Given the description of an element on the screen output the (x, y) to click on. 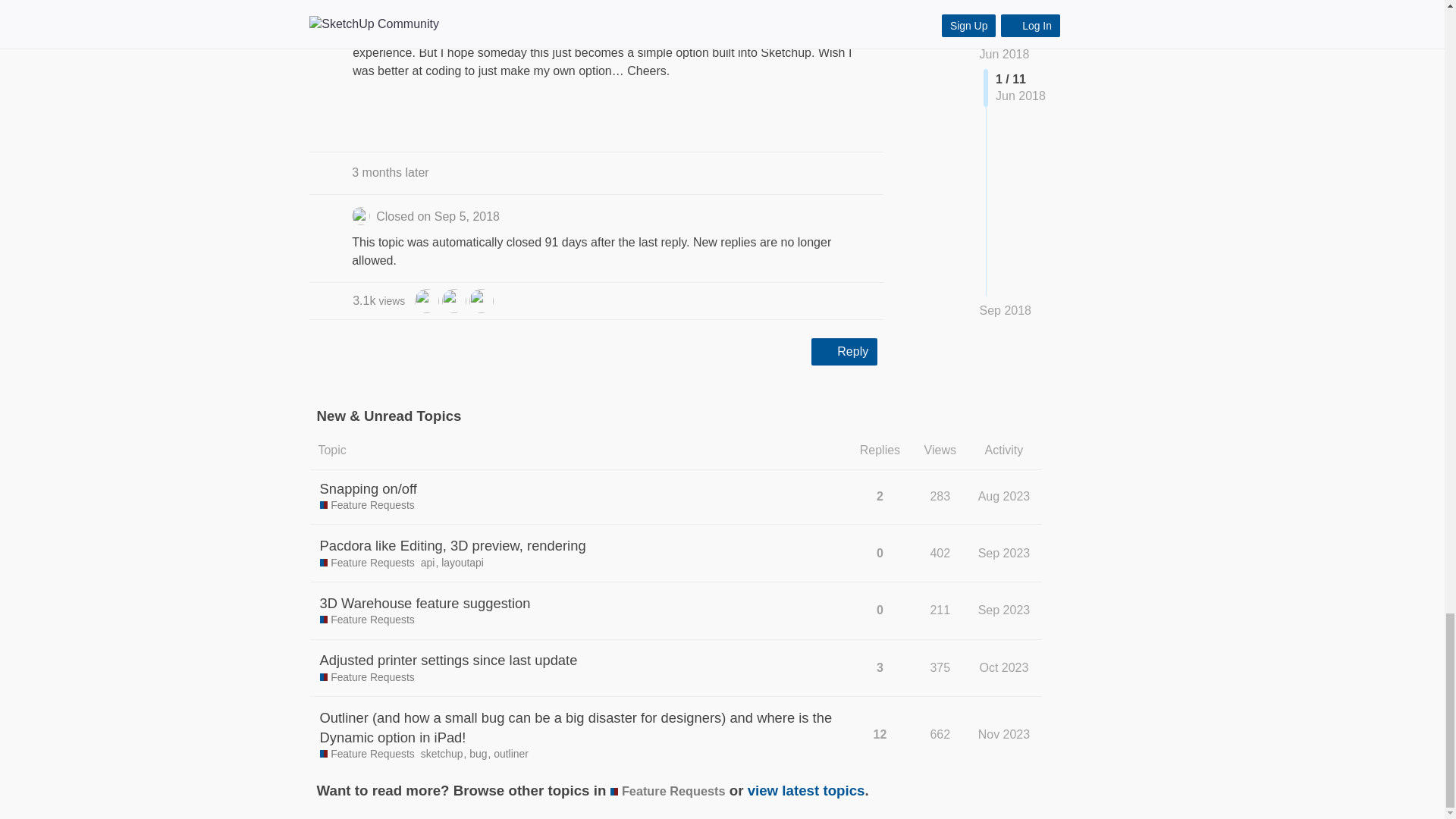
Jack de Moel (480, 300)
Jon Martin (426, 300)
Jmartlncln (379, 300)
MikeWayzovski (426, 299)
Dave (480, 302)
DaveR (453, 300)
